Given the description of an element on the screen output the (x, y) to click on. 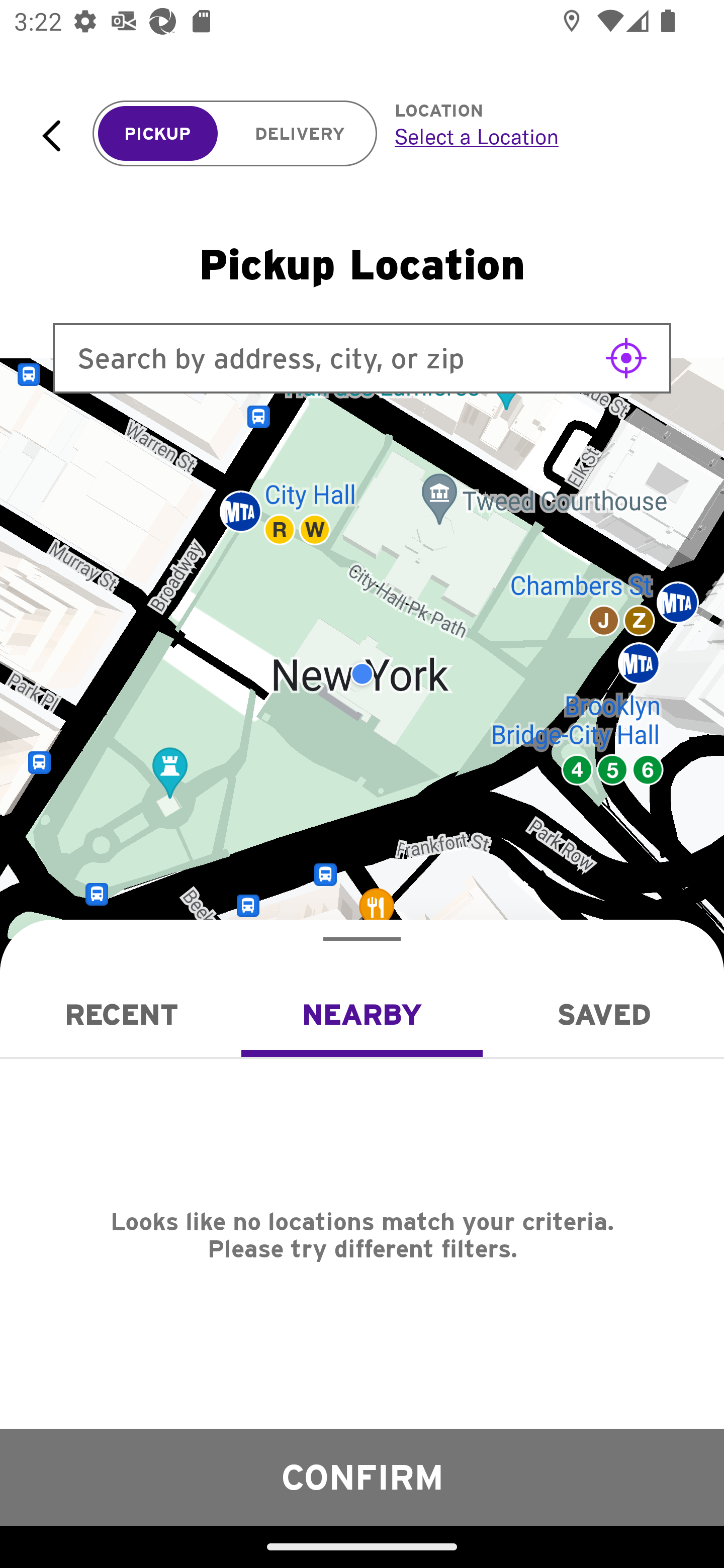
PICKUP (157, 133)
DELIVERY (299, 133)
Select a Location (536, 136)
Search by address, city, or zip (361, 358)
Google Map (362, 674)
Recent RECENT (120, 1014)
Saved SAVED (603, 1014)
CONFIRM (362, 1476)
